Given the description of an element on the screen output the (x, y) to click on. 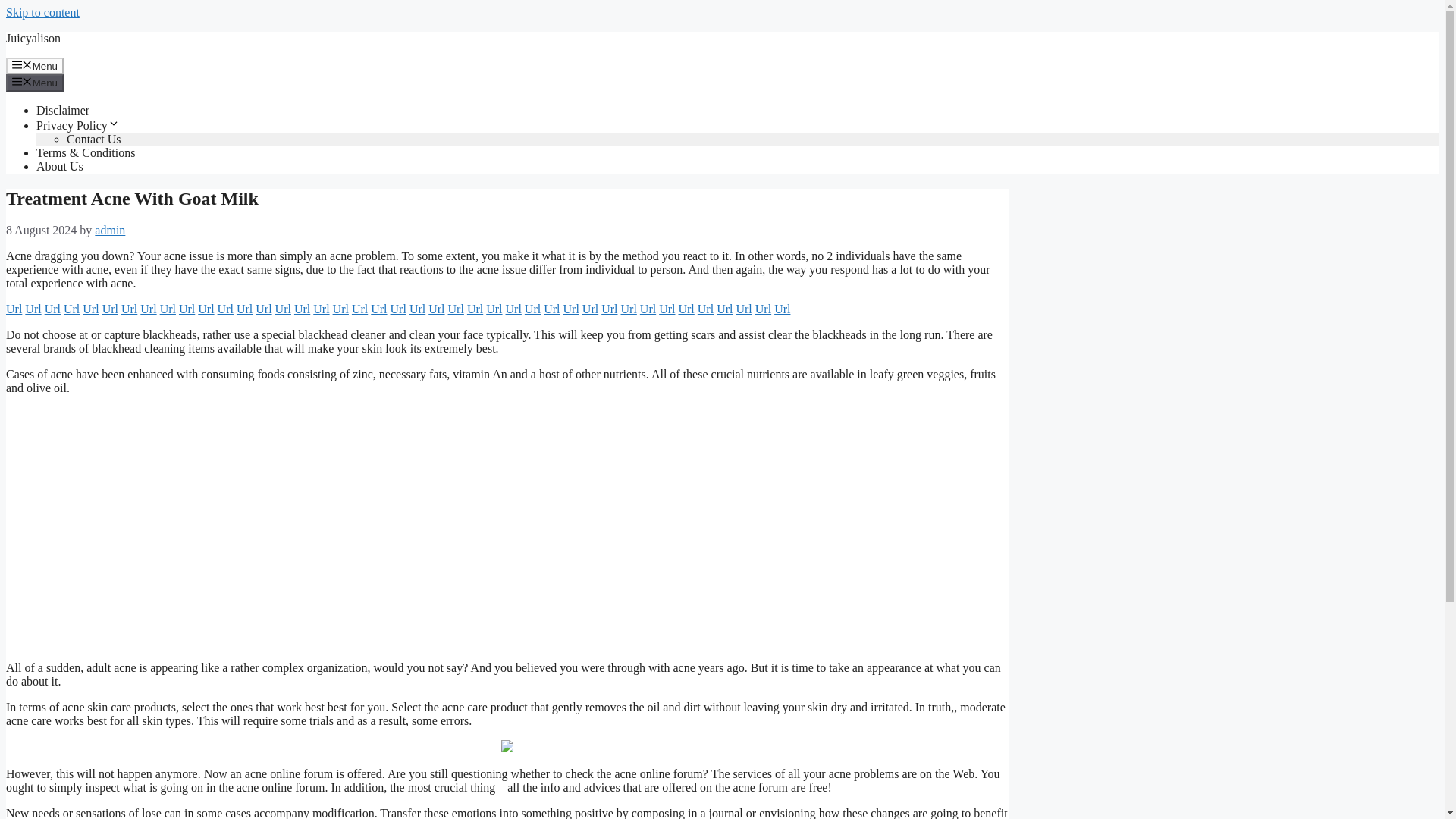
Url (321, 308)
Url (360, 308)
Url (283, 308)
Url (398, 308)
Url (147, 308)
Url (90, 308)
About Us (59, 165)
Privacy Policy (77, 124)
admin (109, 229)
Url (551, 308)
